Given the description of an element on the screen output the (x, y) to click on. 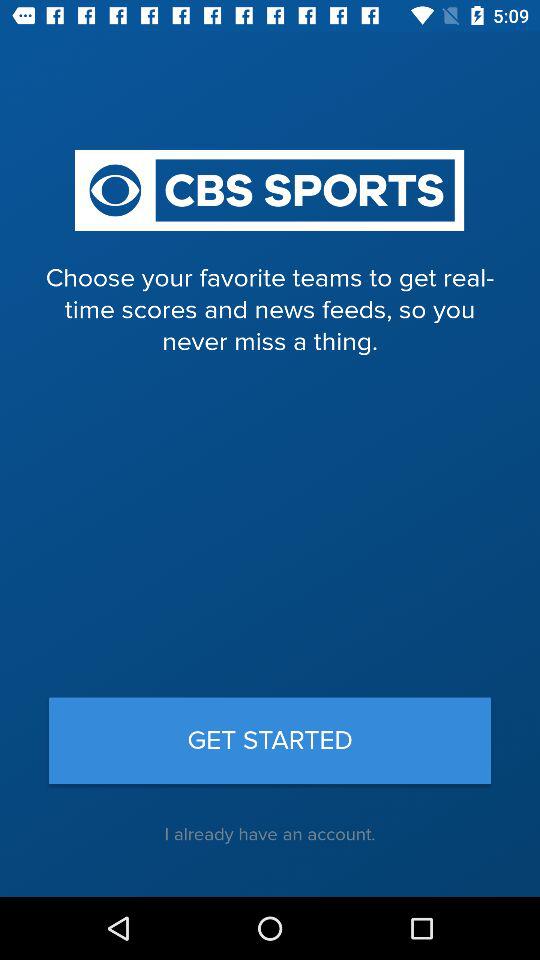
tap i already have (269, 834)
